Given the description of an element on the screen output the (x, y) to click on. 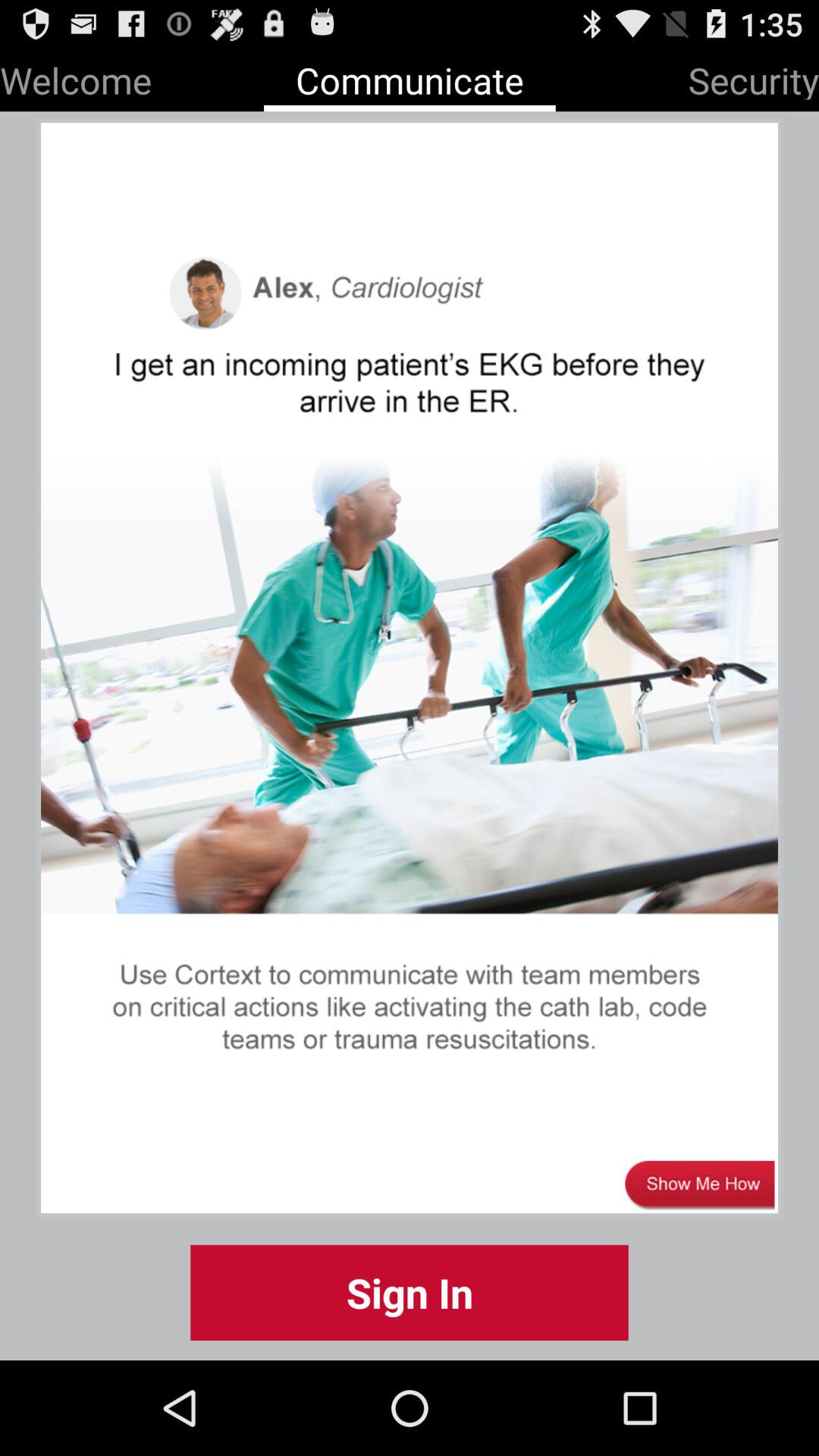
flip to the sign in icon (409, 1292)
